Given the description of an element on the screen output the (x, y) to click on. 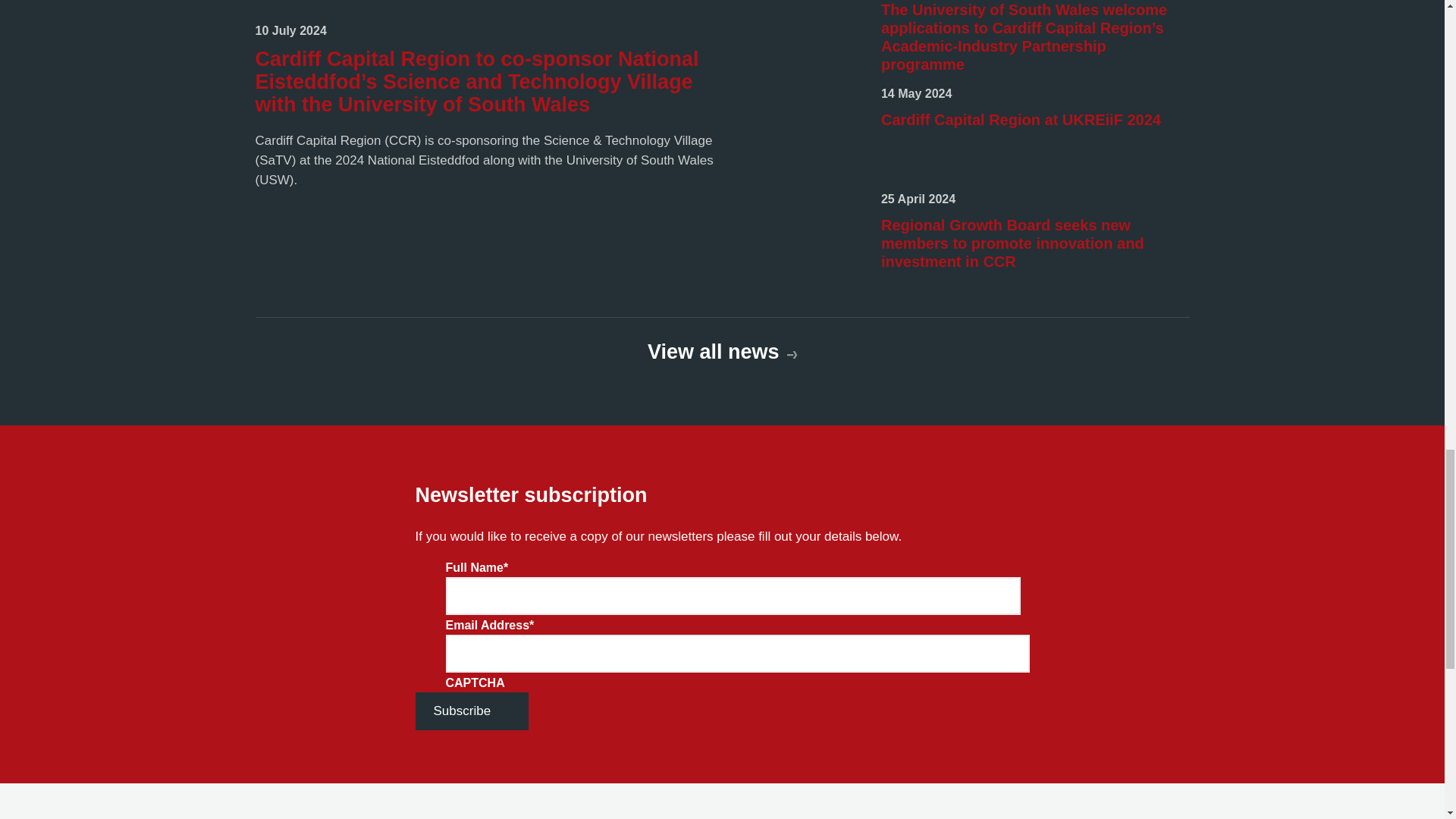
Subscribe (471, 711)
